Given the description of an element on the screen output the (x, y) to click on. 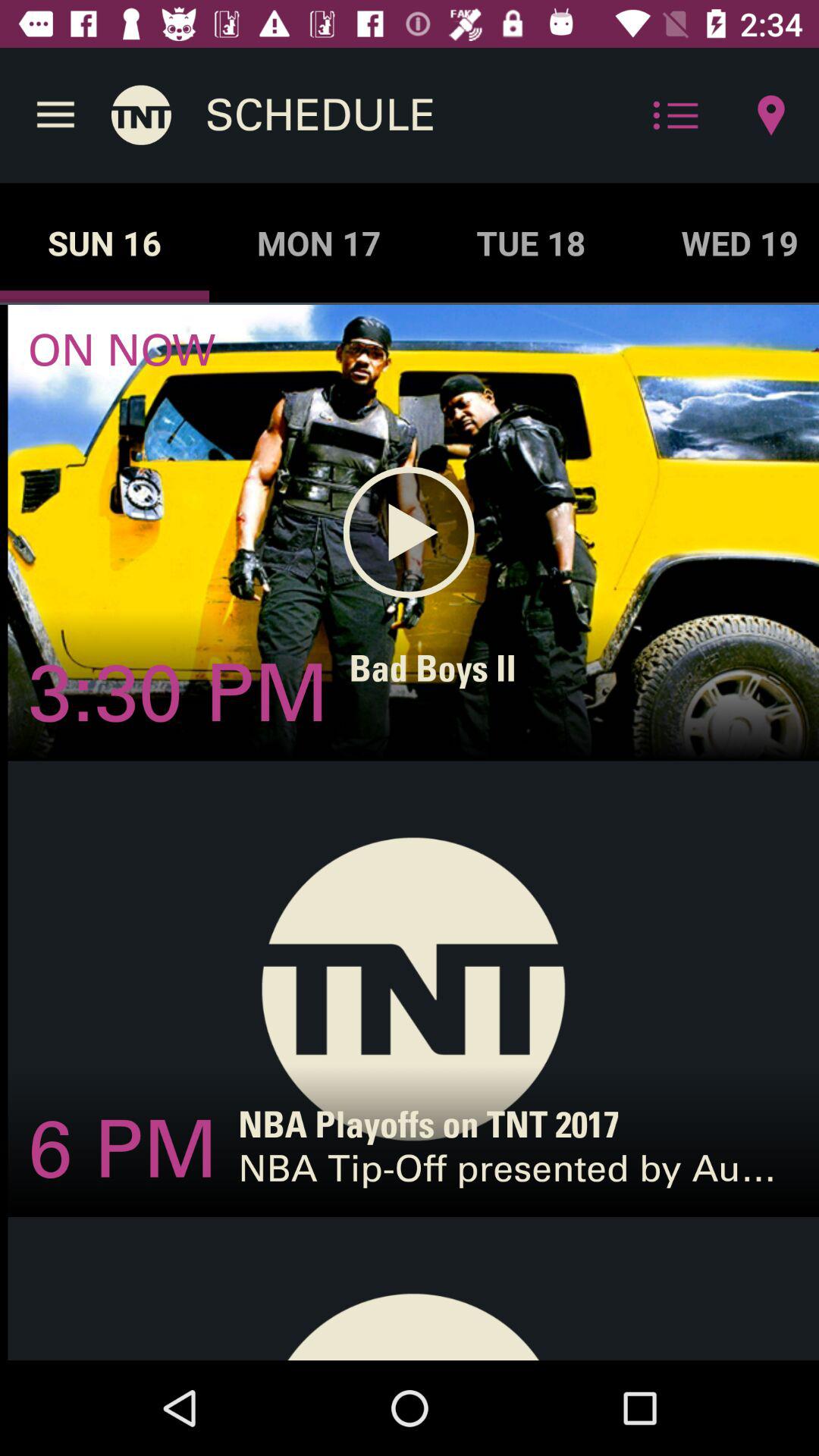
launch the icon next to the mon 17 item (104, 242)
